Given the description of an element on the screen output the (x, y) to click on. 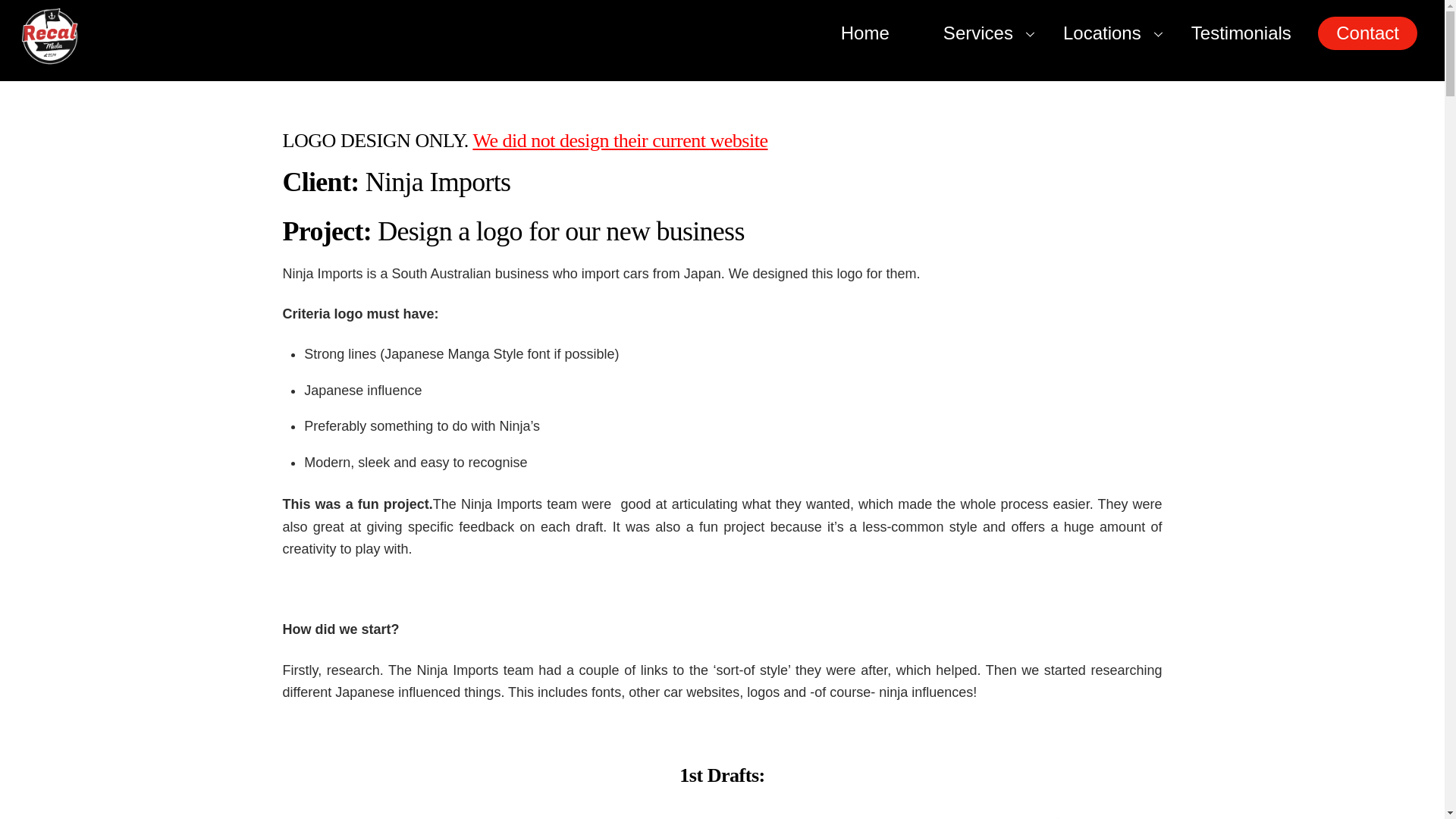
Services (975, 33)
Locations (1113, 33)
Corporate Video Production Australia - Recal Media (49, 53)
Testimonials (722, 29)
Contact (1240, 33)
Home (1366, 32)
